Given the description of an element on the screen output the (x, y) to click on. 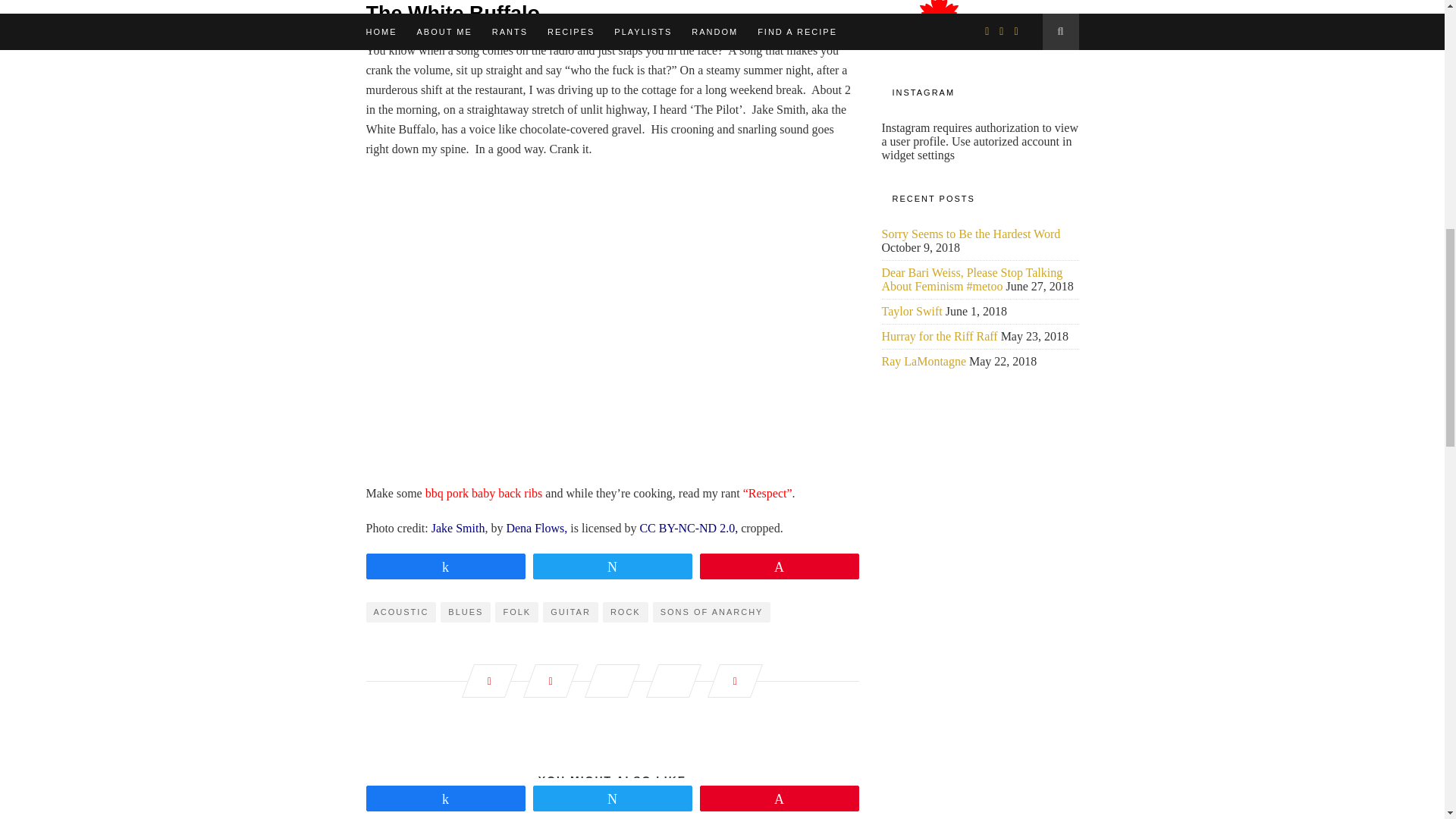
ACOUSTIC (400, 611)
ROCK (624, 611)
CC BY-NC-ND 2.0 (687, 527)
Jake Smith (457, 527)
SONS OF ANARCHY (711, 611)
FOLK (516, 611)
GUITAR (570, 611)
bbq pork baby back ribs (484, 492)
BLUES (465, 611)
Dena Flows (534, 527)
